Given the description of an element on the screen output the (x, y) to click on. 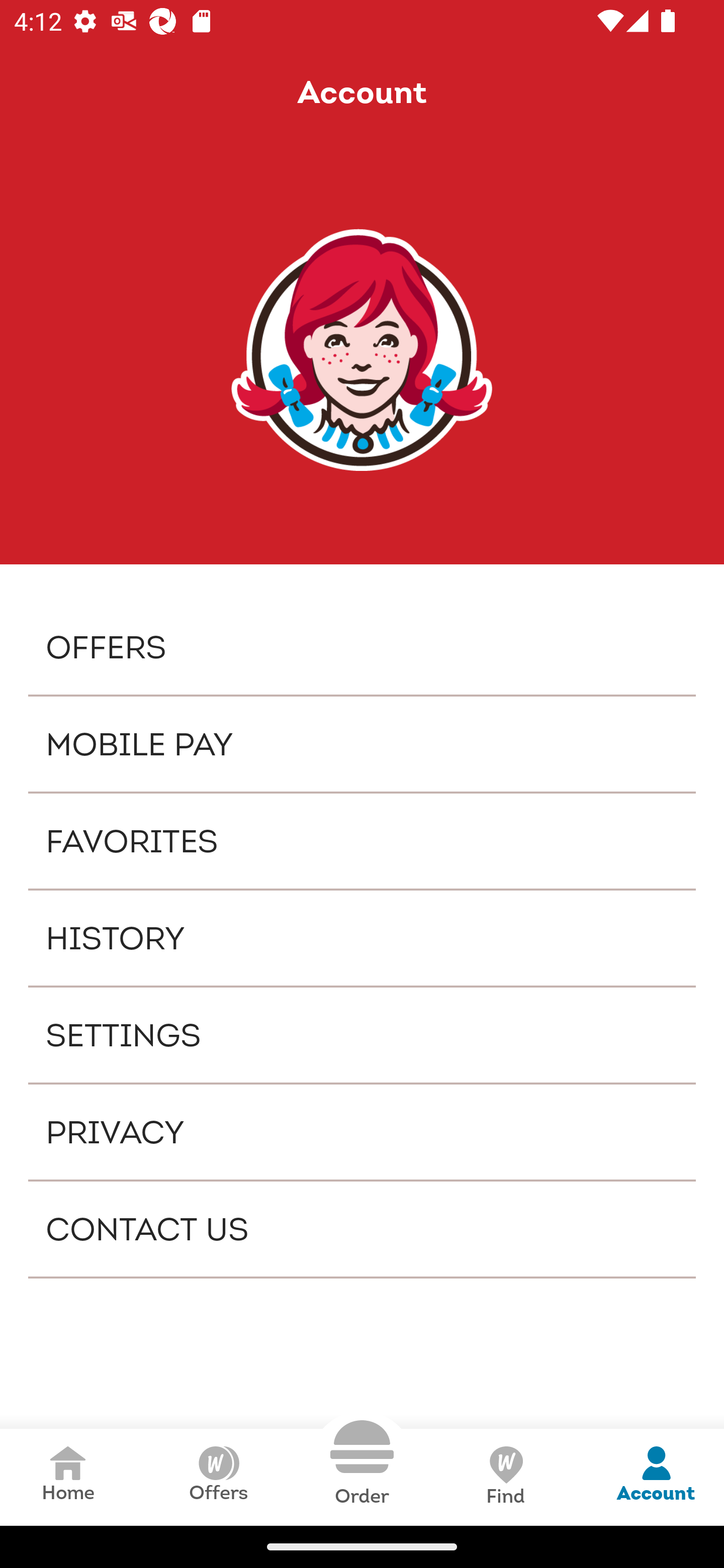
OFFERS Offers,1 of 8 (361, 646)
MOBILE PAY Mobile Pay,2 of 8 (361, 743)
FAVORITES Favorites,3 of 8 (361, 841)
HISTORY History,5 of 8 (361, 938)
SETTINGS Settings,6 of 8 (361, 1034)
PRIVACY Privacy,7 of 8 (361, 1132)
CONTACT US contact us,8 of 8 (361, 1229)
Order,3 of 5 Order (361, 1463)
Home,1 of 5 Home (68, 1476)
Rewards,2 of 5 Offers Offers (218, 1476)
Scan,4 of 5 Find Find (505, 1476)
Account,5 of 5 Account (655, 1476)
